Given the description of an element on the screen output the (x, y) to click on. 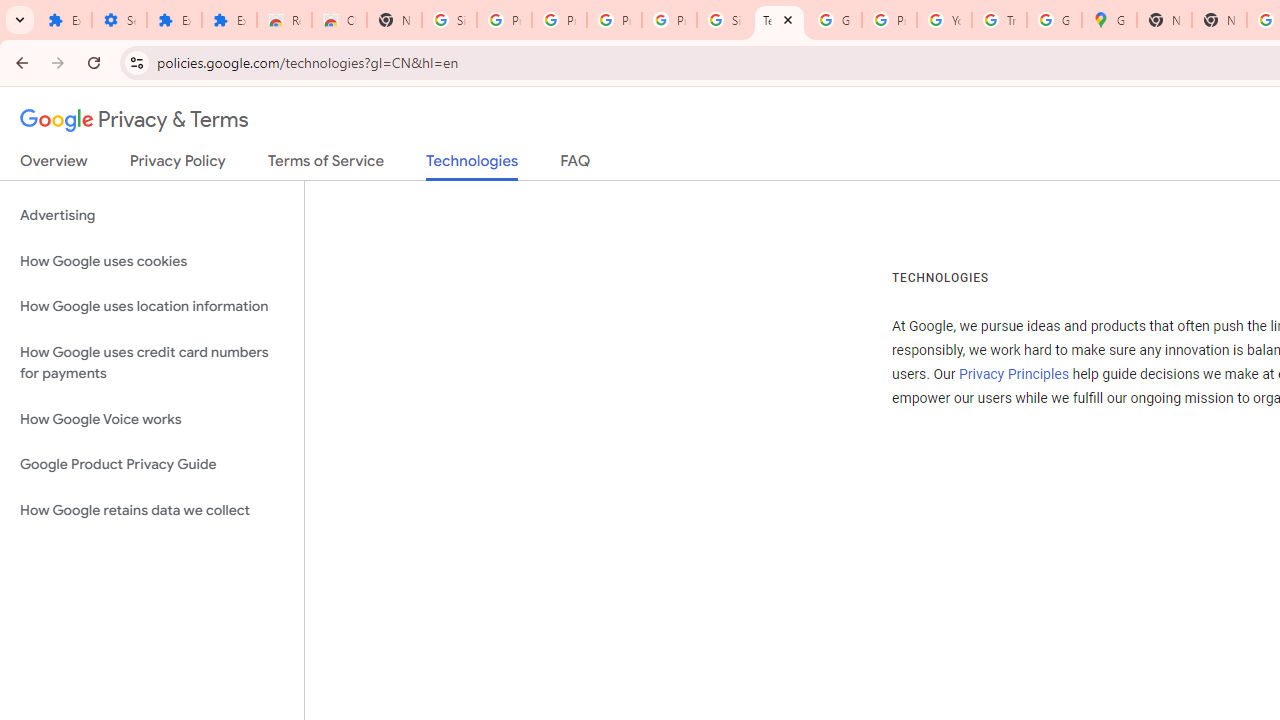
Extensions (174, 20)
New Tab (1218, 20)
YouTube (943, 20)
Sign in - Google Accounts (449, 20)
Extensions (64, 20)
Sign in - Google Accounts (724, 20)
Advertising (152, 215)
New Tab (394, 20)
How Google uses credit card numbers for payments (152, 362)
